Given the description of an element on the screen output the (x, y) to click on. 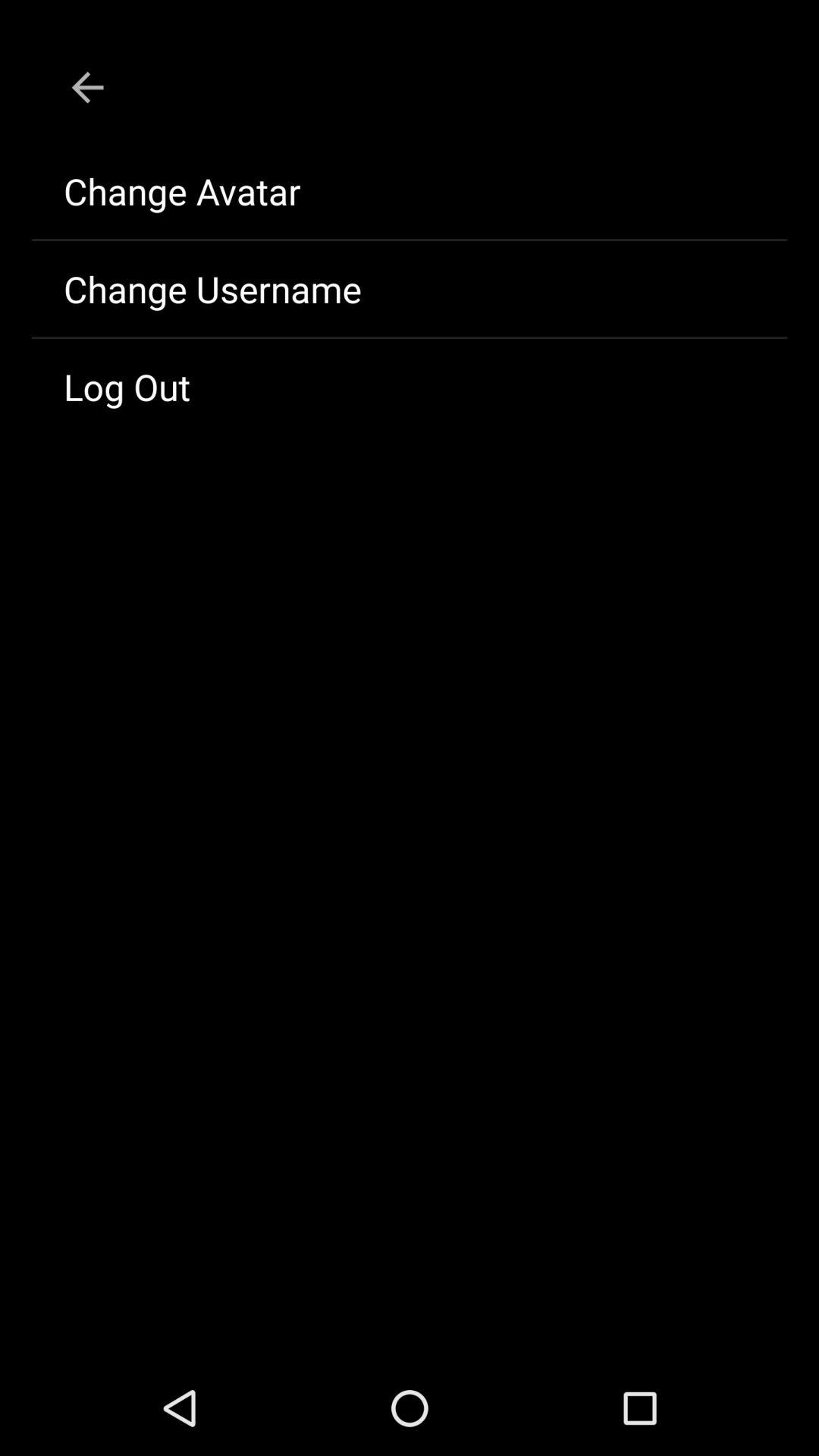
scroll until change username (409, 288)
